Given the description of an element on the screen output the (x, y) to click on. 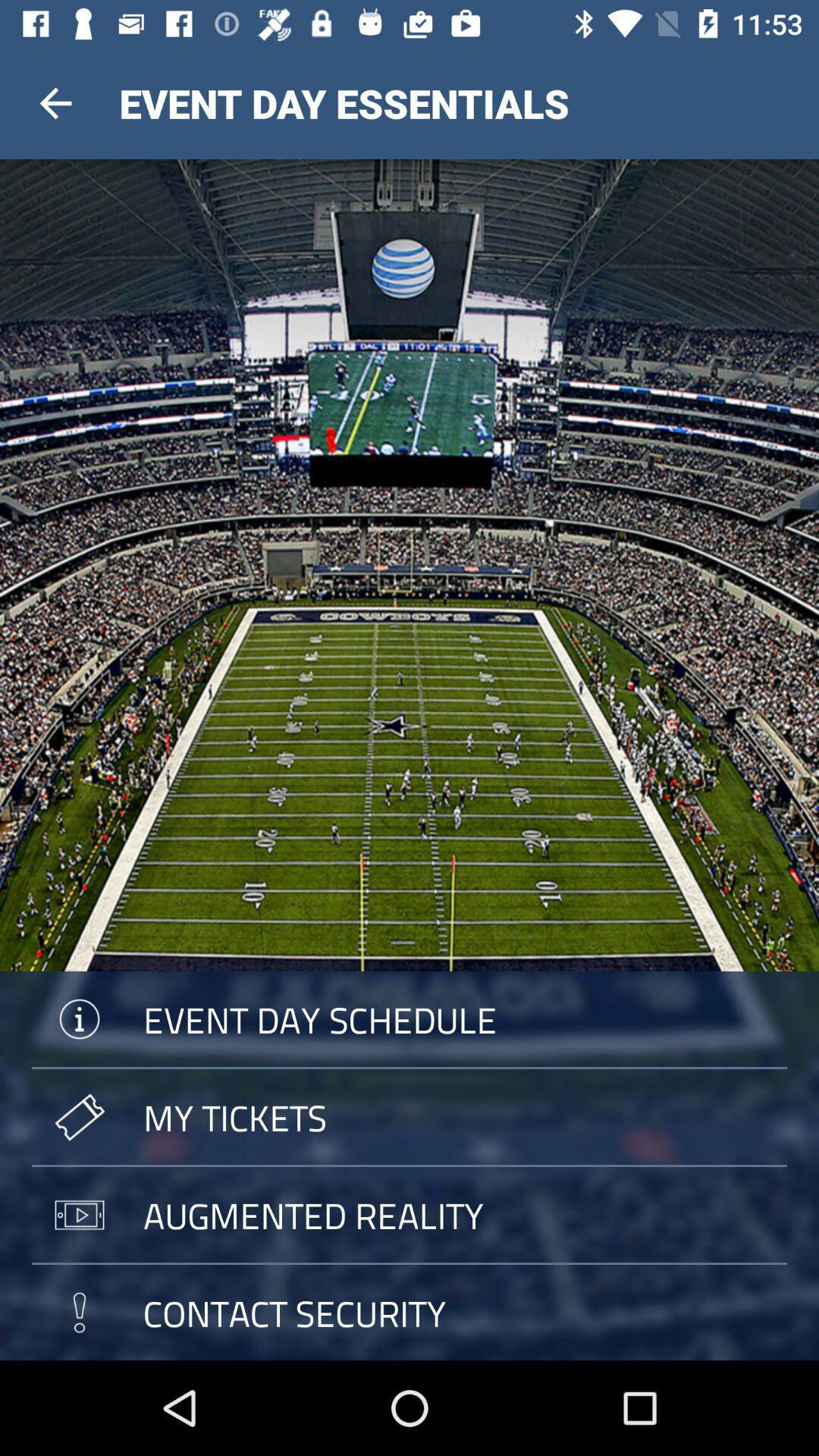
select augmented reality (409, 1214)
